Given the description of an element on the screen output the (x, y) to click on. 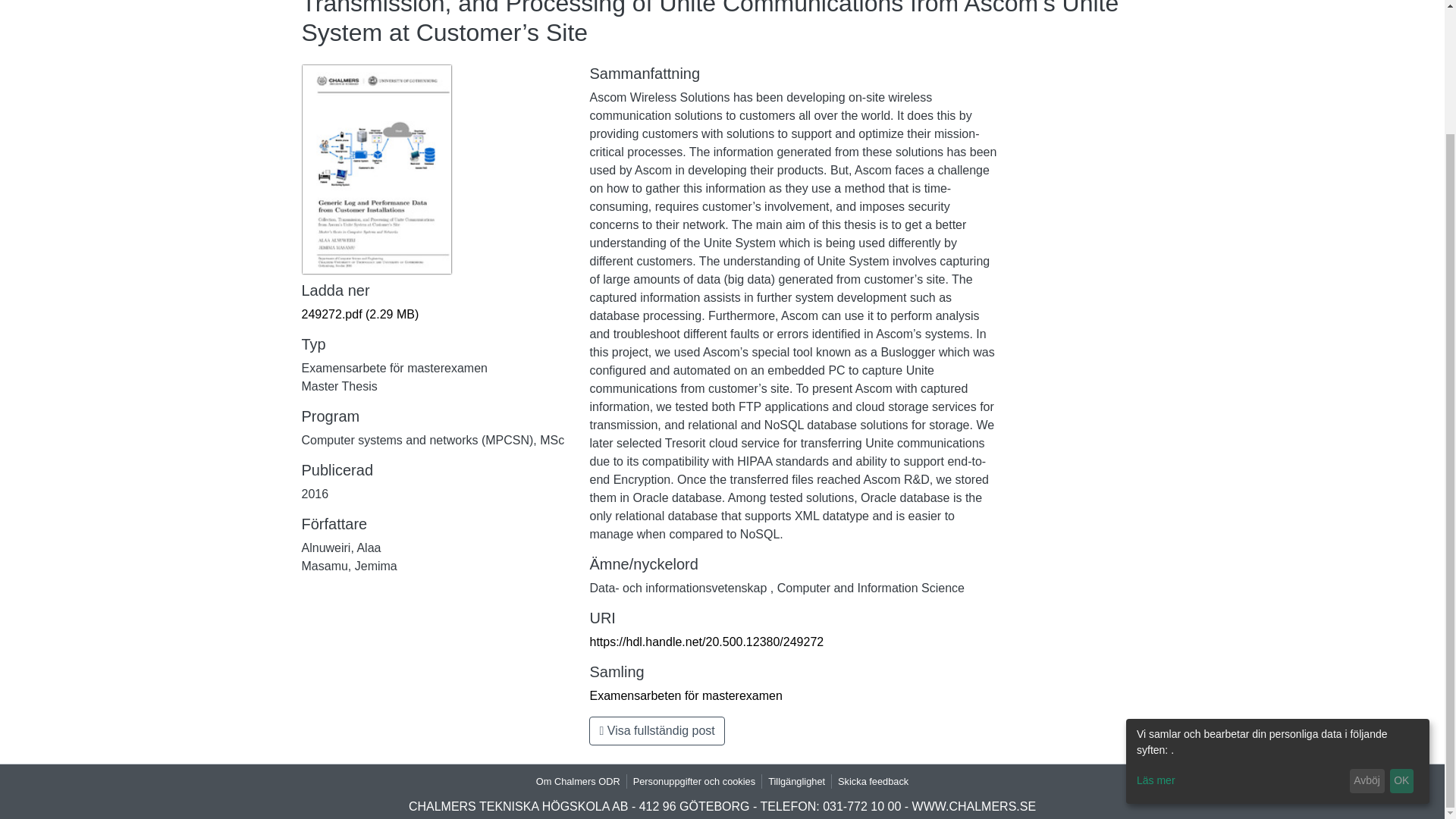
Personuppgifter och cookies (694, 780)
Om Chalmers ODR (577, 780)
Skicka feedback (872, 780)
WWW.CHALMERS.SE (974, 806)
OK (1401, 631)
